Given the description of an element on the screen output the (x, y) to click on. 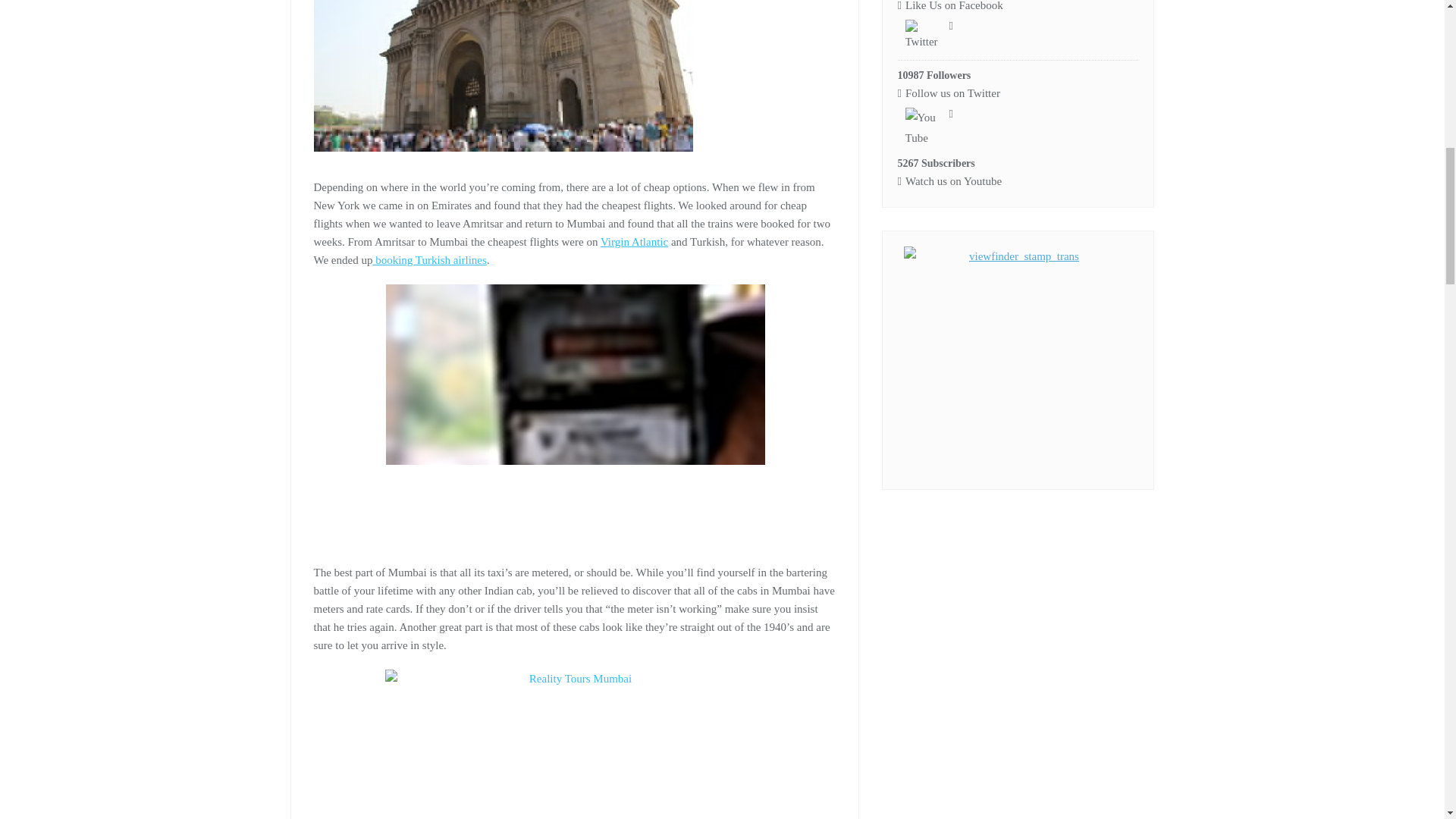
Dharvi Reality Tours (574, 744)
booking Turkish airlines (429, 259)
Virgin Atlantic (633, 241)
Top things to do in Mumbai (575, 410)
